Given the description of an element on the screen output the (x, y) to click on. 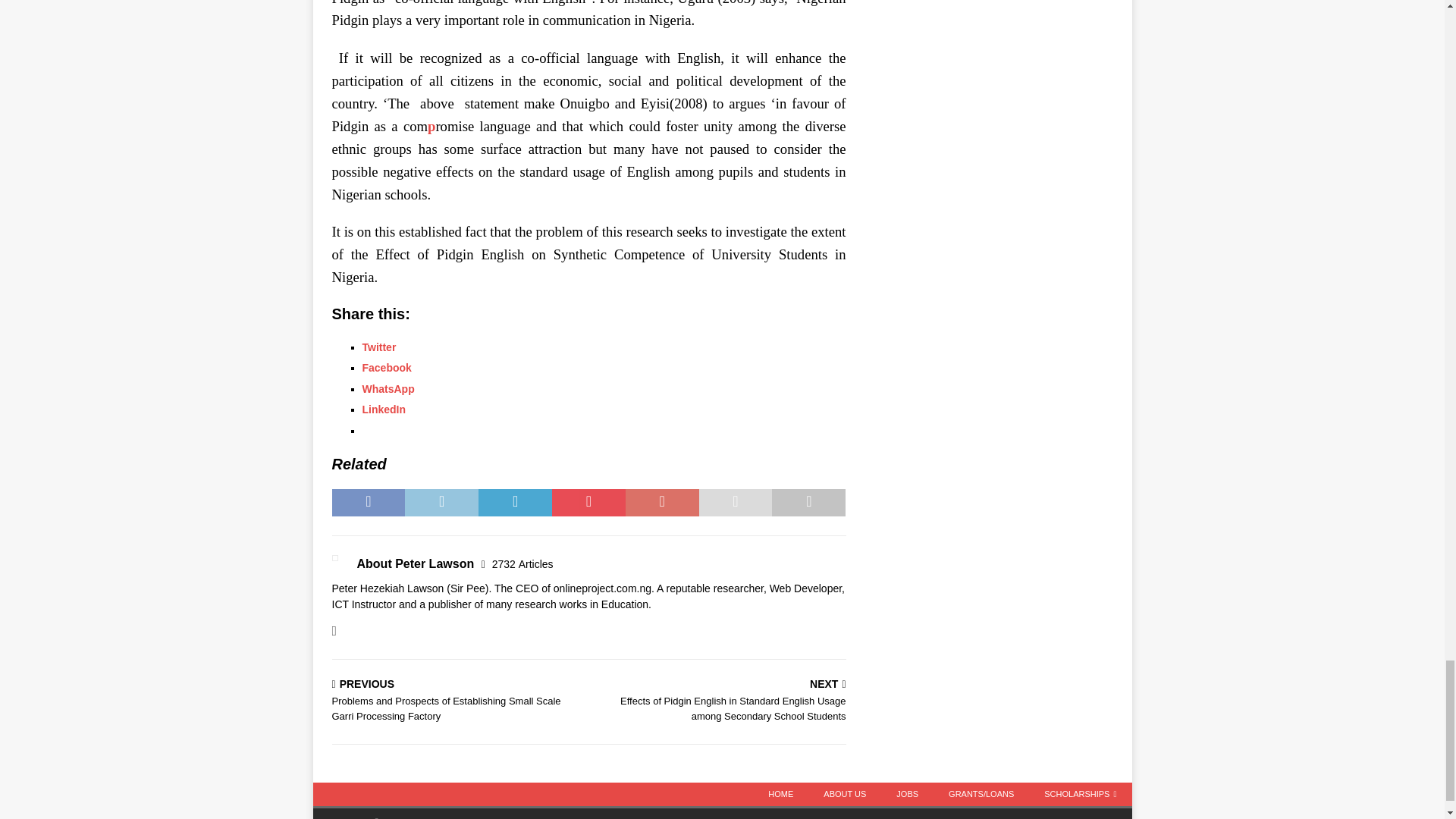
Click to share on Twitter (379, 346)
Facebook (387, 367)
Click to share on WhatsApp (388, 388)
WhatsApp (388, 388)
Click to share on Facebook (387, 367)
Twitter (379, 346)
LinkedIn (384, 409)
